Given the description of an element on the screen output the (x, y) to click on. 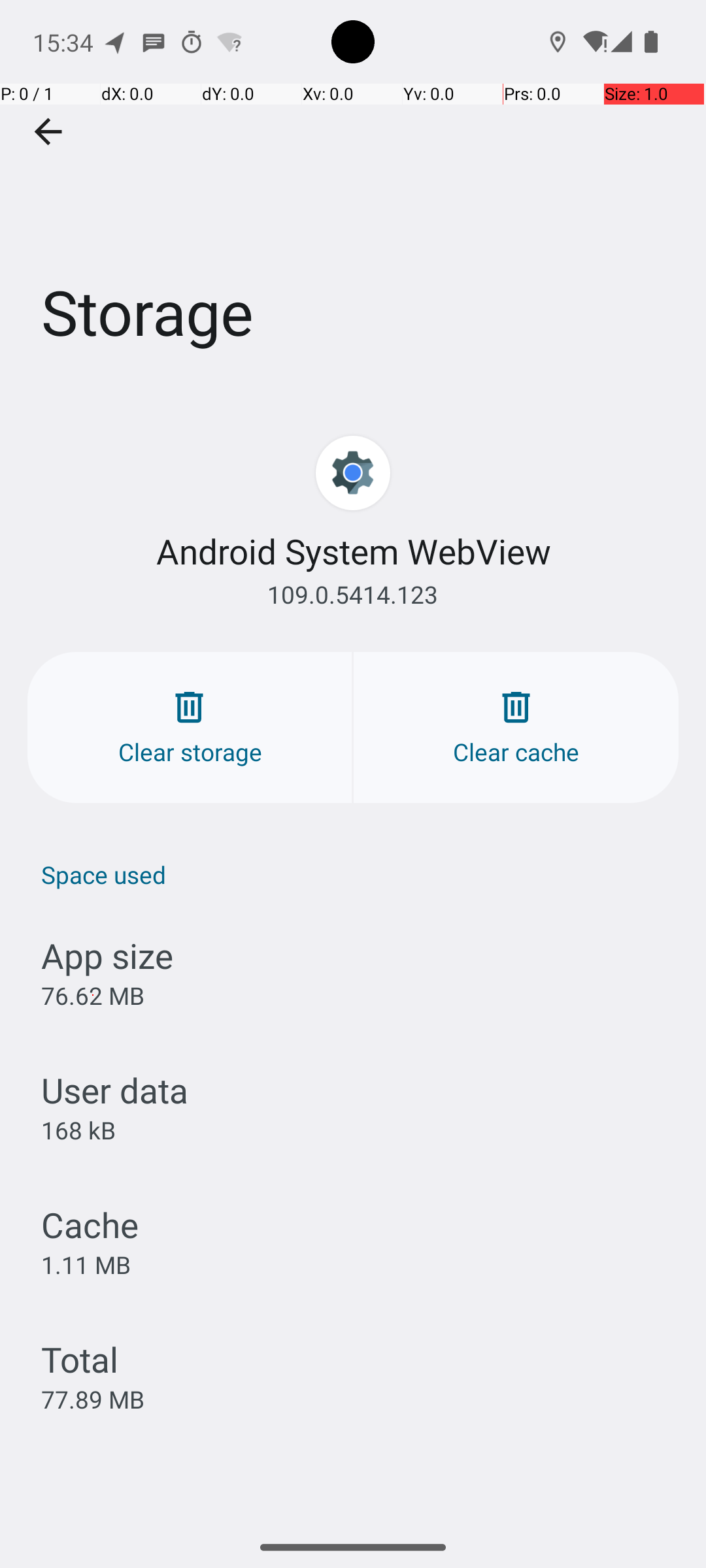
109.0.5414.123 Element type: android.widget.TextView (352, 593)
76.62 MB Element type: android.widget.TextView (92, 995)
168 kB Element type: android.widget.TextView (78, 1129)
1.11 MB Element type: android.widget.TextView (85, 1264)
77.89 MB Element type: android.widget.TextView (92, 1398)
